Given the description of an element on the screen output the (x, y) to click on. 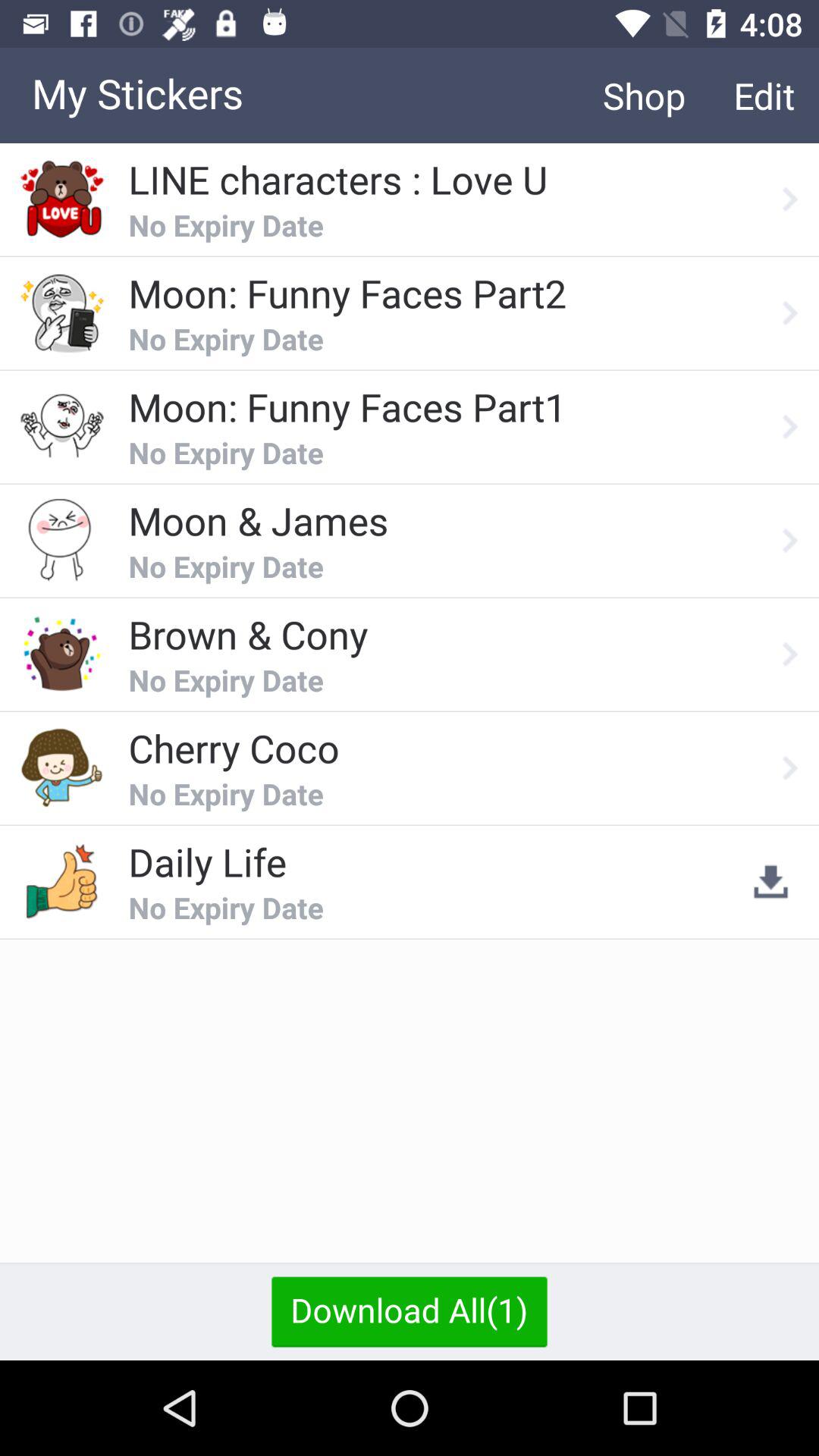
select icon below the no expiry date icon (409, 1311)
